Given the description of an element on the screen output the (x, y) to click on. 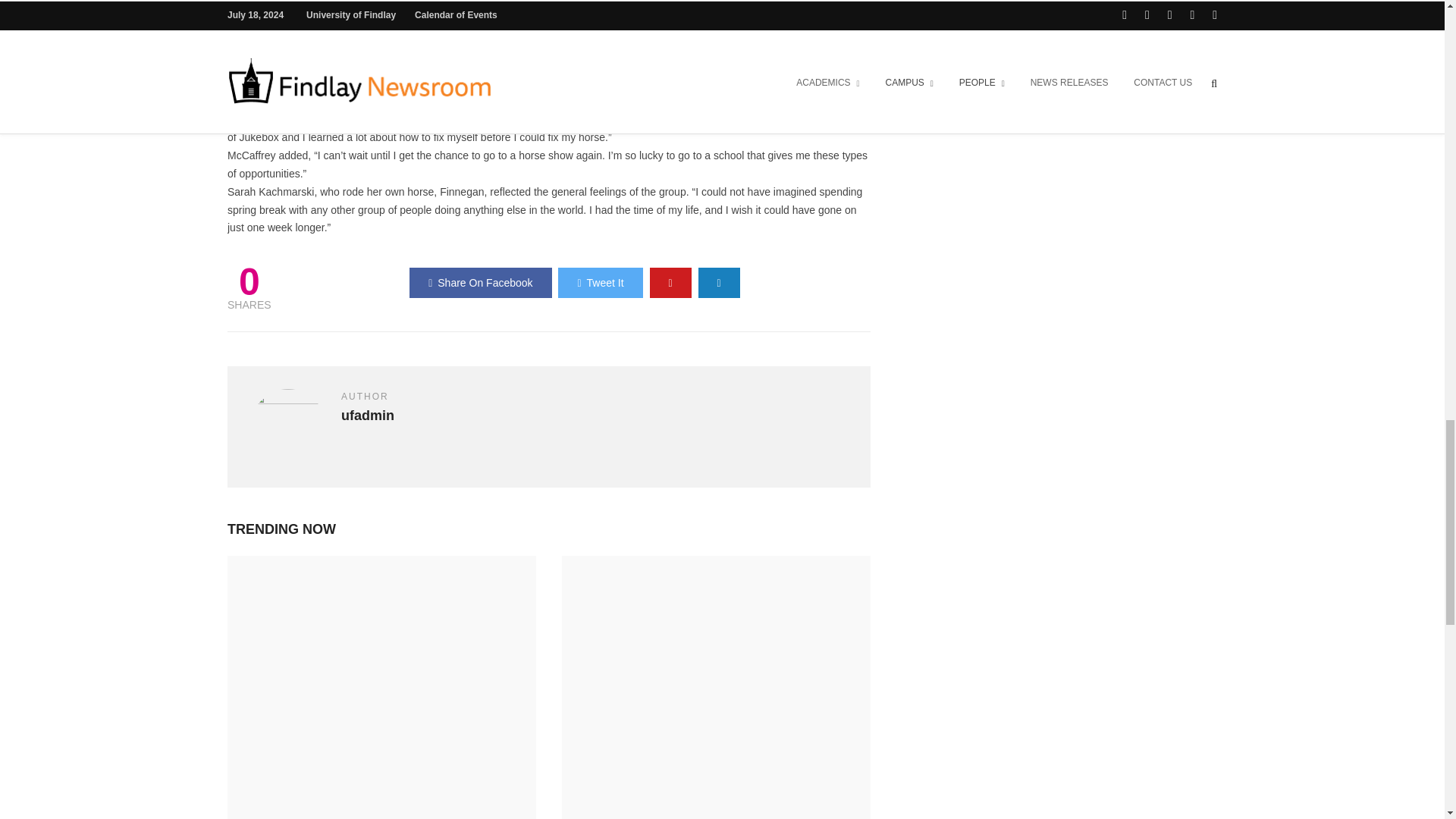
Share On Twitter (599, 282)
Share On Pinterest (670, 282)
Share On Facebook (480, 282)
Share by Email (718, 282)
